Given the description of an element on the screen output the (x, y) to click on. 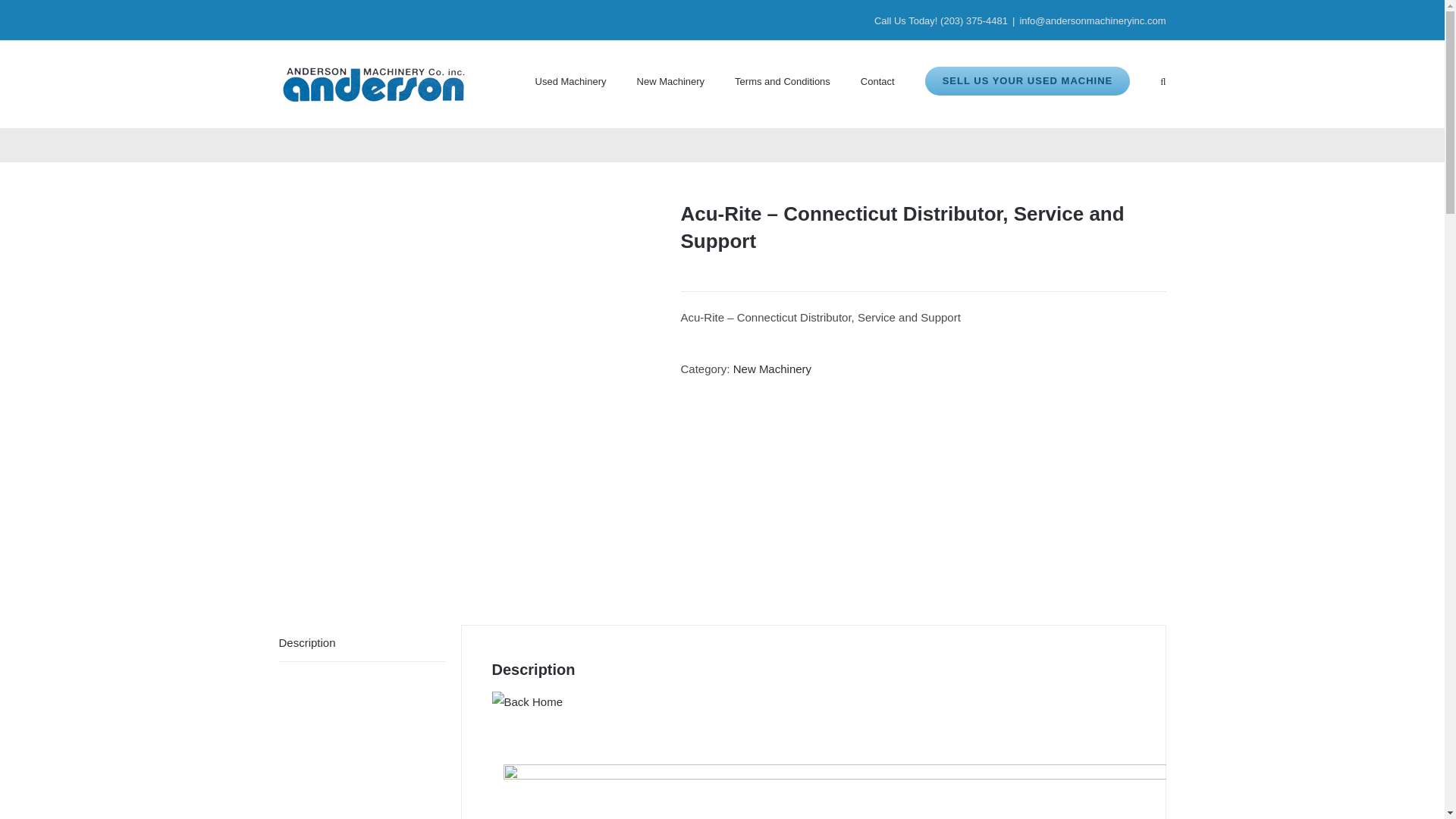
Description (362, 642)
SELL US YOUR USED MACHINE (1027, 79)
Used Machinery (571, 79)
Terms and Conditions (782, 79)
New Machinery (771, 368)
